Given the description of an element on the screen output the (x, y) to click on. 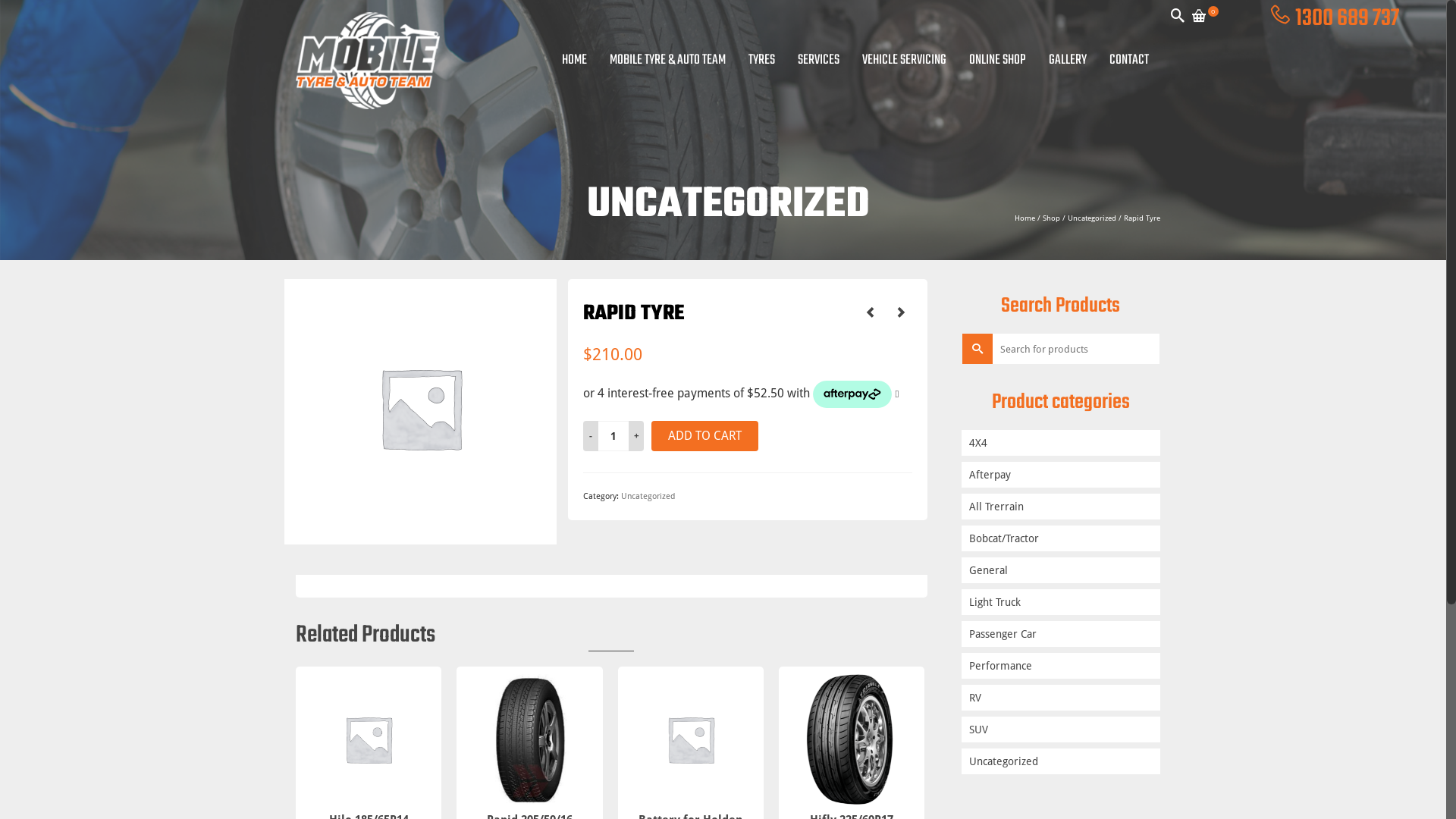
1300 689 737 Element type: text (1347, 18)
Uncategorized Element type: text (647, 496)
Qty Element type: hover (613, 435)
ADD TO CART Element type: text (704, 435)
Bobcat/Tractor Element type: text (1061, 538)
Light Truck Element type: text (1061, 602)
4X4 Element type: text (1061, 442)
Shop Element type: text (1051, 217)
Home Element type: text (1024, 217)
0 Element type: text (1205, 18)
Performance Element type: text (1061, 665)
CONTACT Element type: text (1129, 60)
TYRES Element type: text (761, 60)
SERVICES Element type: text (818, 60)
HOME Element type: text (572, 60)
General Element type: text (1061, 570)
ONLINE SHOP Element type: text (997, 60)
SUV Element type: text (1061, 729)
GALLERY Element type: text (1067, 60)
Afterpay Element type: text (1061, 474)
265/65/17 Powertrac Element type: hover (899, 312)
Hi Fly 215/70/16C Element type: hover (869, 312)
RV Element type: text (1061, 697)
All Trerrain Element type: text (1061, 506)
Uncategorized Element type: text (1061, 761)
Passenger Car Element type: text (1061, 633)
VEHICLE SERVICING Element type: text (903, 60)
MOBILE TYRE & AUTO TEAM Element type: text (667, 60)
Uncategorized Element type: text (1091, 217)
